Given the description of an element on the screen output the (x, y) to click on. 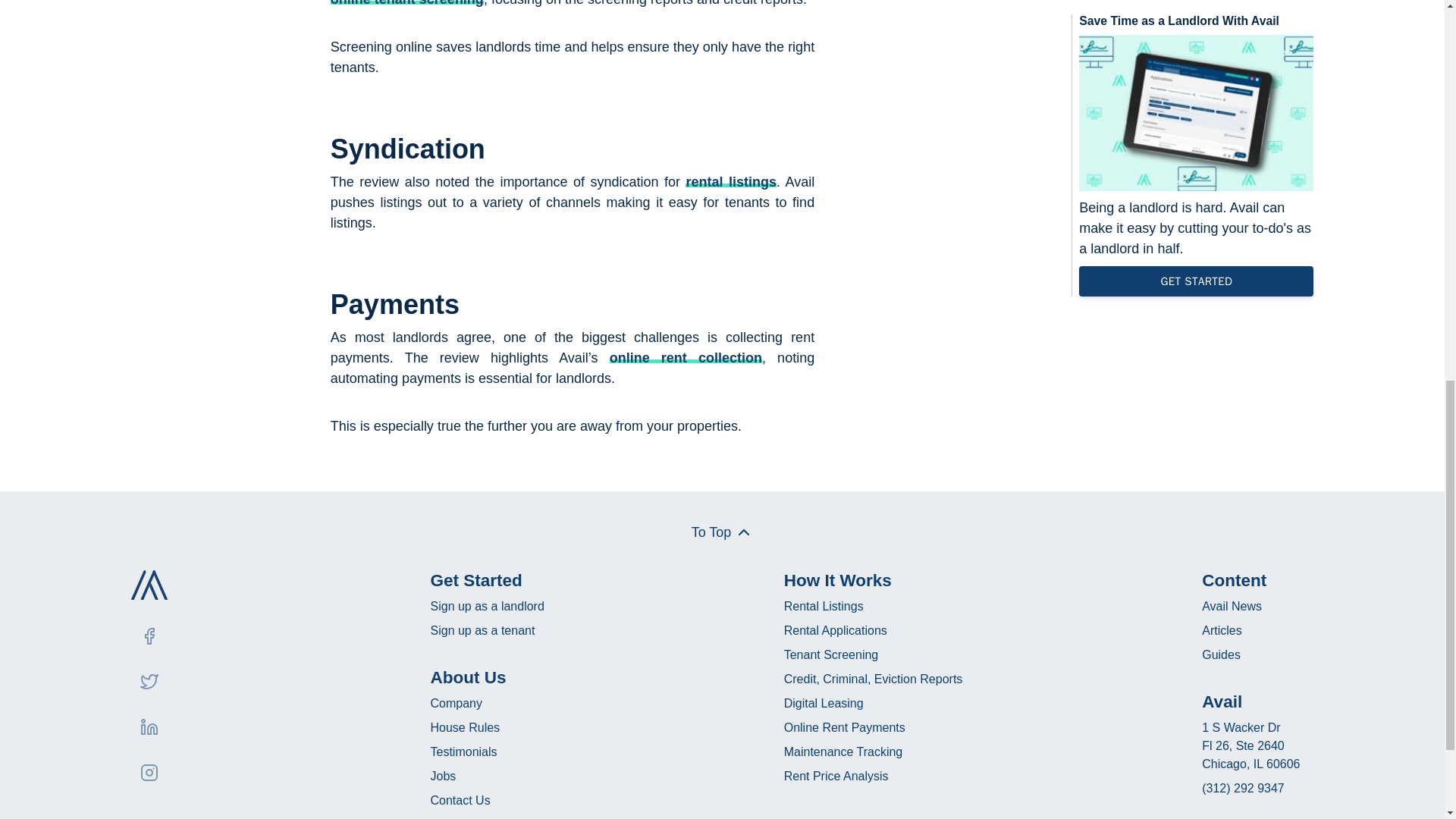
Facebook (149, 636)
Twitter (149, 681)
To Avail homepage (149, 584)
Linkedin (149, 727)
Instagram (149, 772)
